Given the description of an element on the screen output the (x, y) to click on. 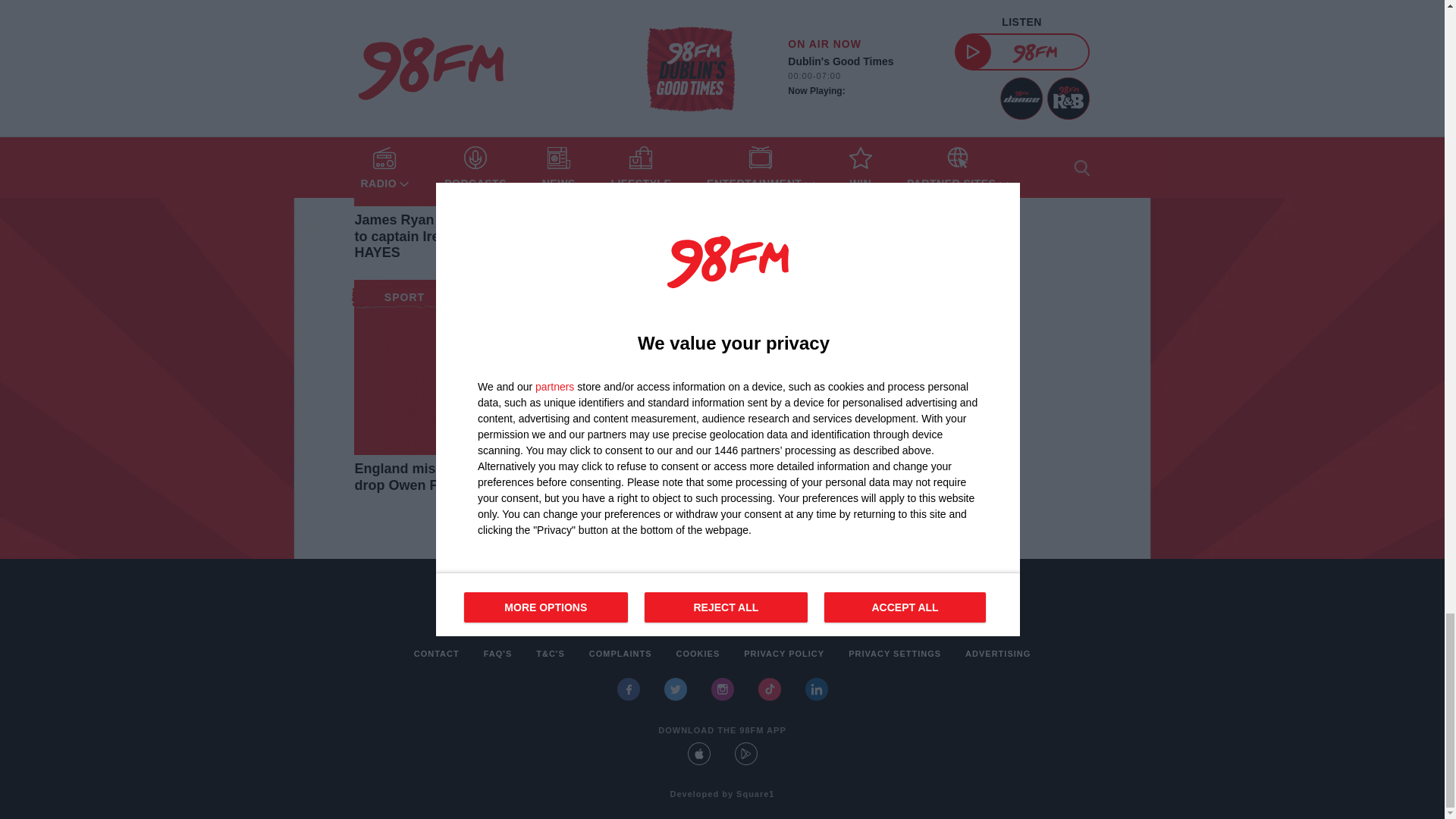
Contact (436, 653)
FAQ's (497, 653)
